Given the description of an element on the screen output the (x, y) to click on. 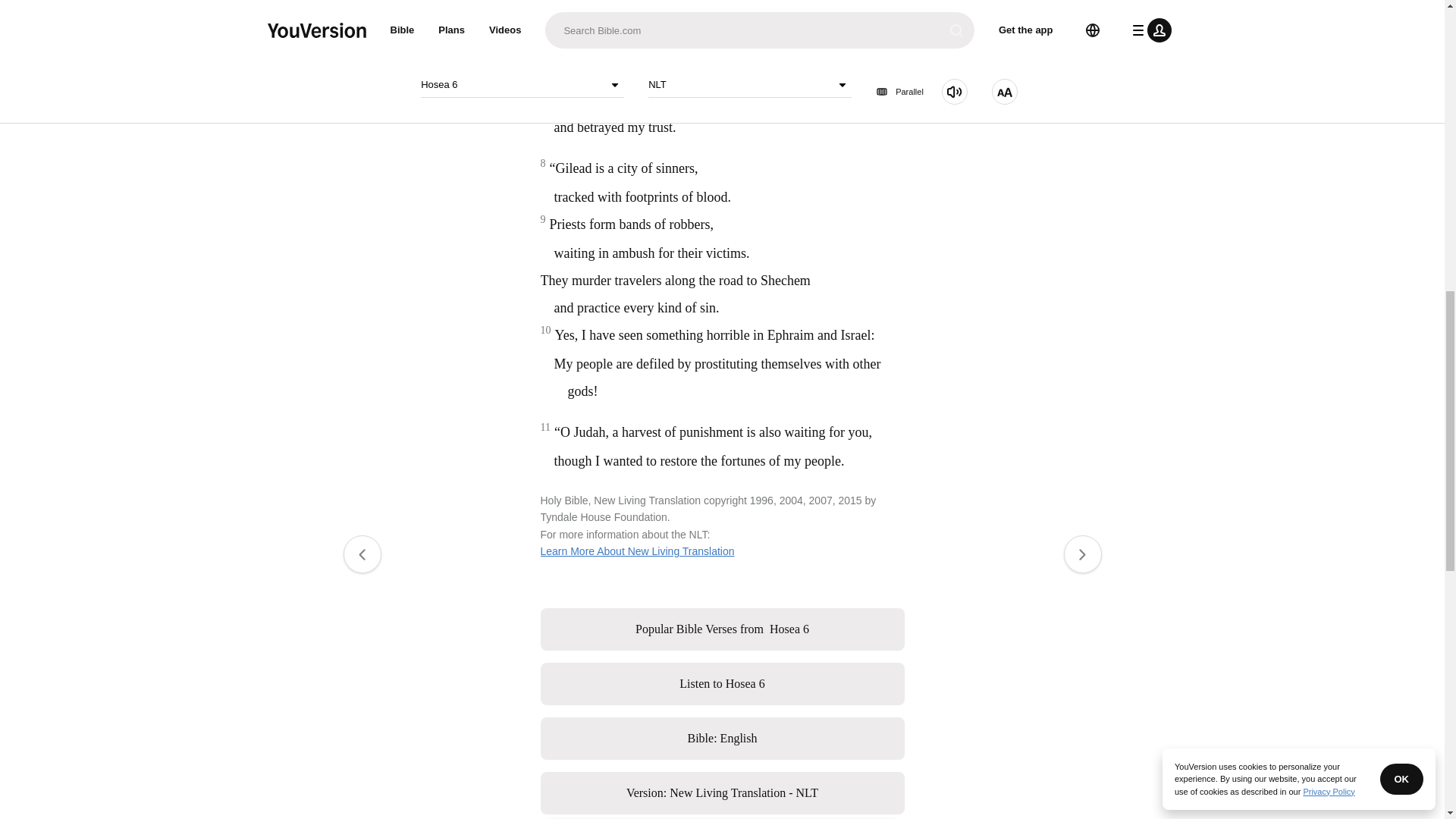
Hosea 6: NLT (609, 47)
Sign up or sign in (774, 245)
Learn More About New Living Translation (722, 629)
Version: New Living Translation - NLT (636, 551)
Listen to Hosea 6 (722, 793)
English (722, 683)
Bible:  (738, 738)
